Given the description of an element on the screen output the (x, y) to click on. 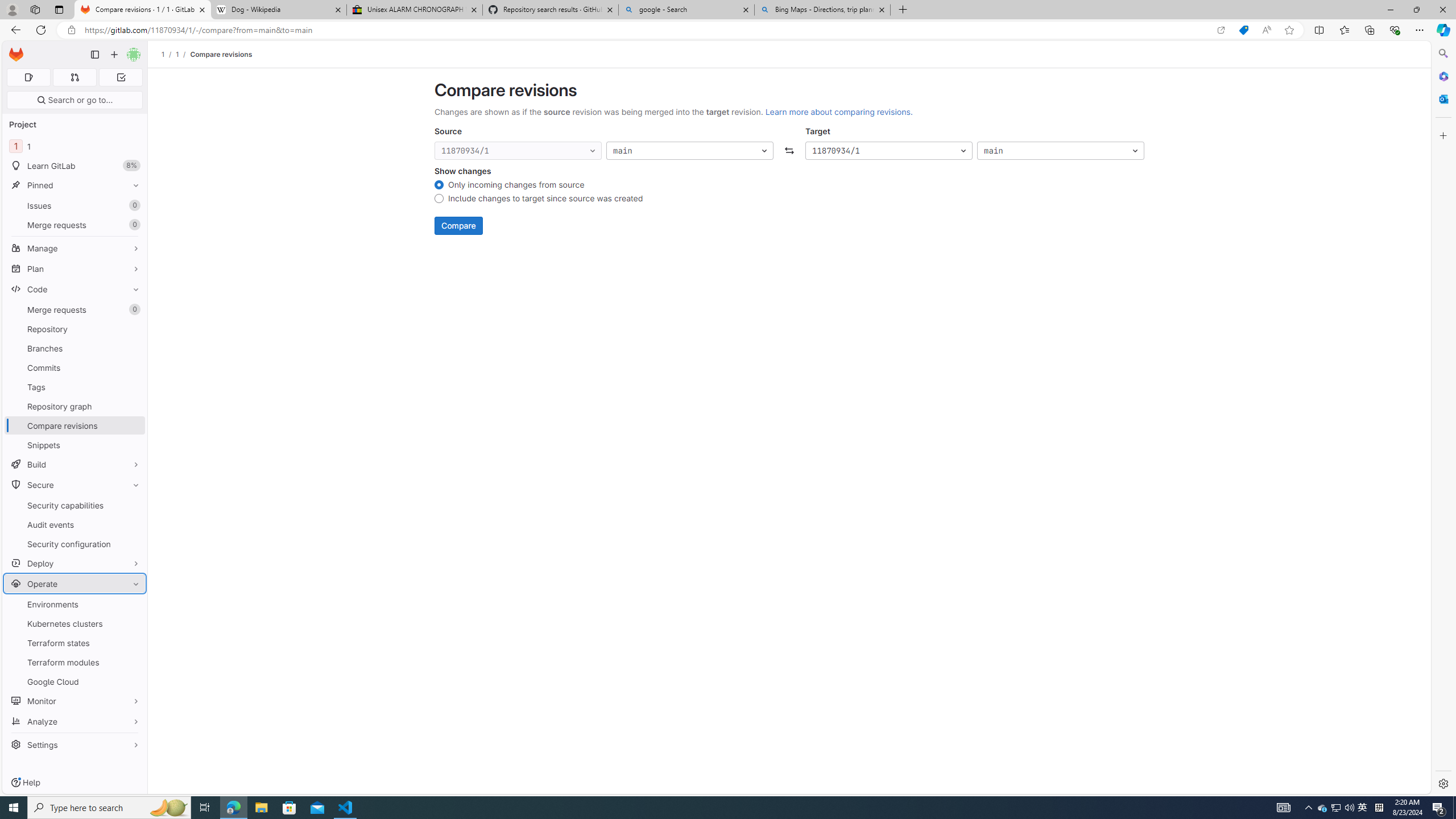
Audit events (74, 524)
Security configuration (74, 543)
Pin Repository graph (132, 406)
Repository graph (74, 406)
Pin Tags (132, 386)
Assigned issues 0 (28, 76)
Pinned (74, 185)
11870934/1 (888, 150)
Merge requests0 (74, 309)
Pin Terraform modules (132, 662)
Repository (74, 328)
